Given the description of an element on the screen output the (x, y) to click on. 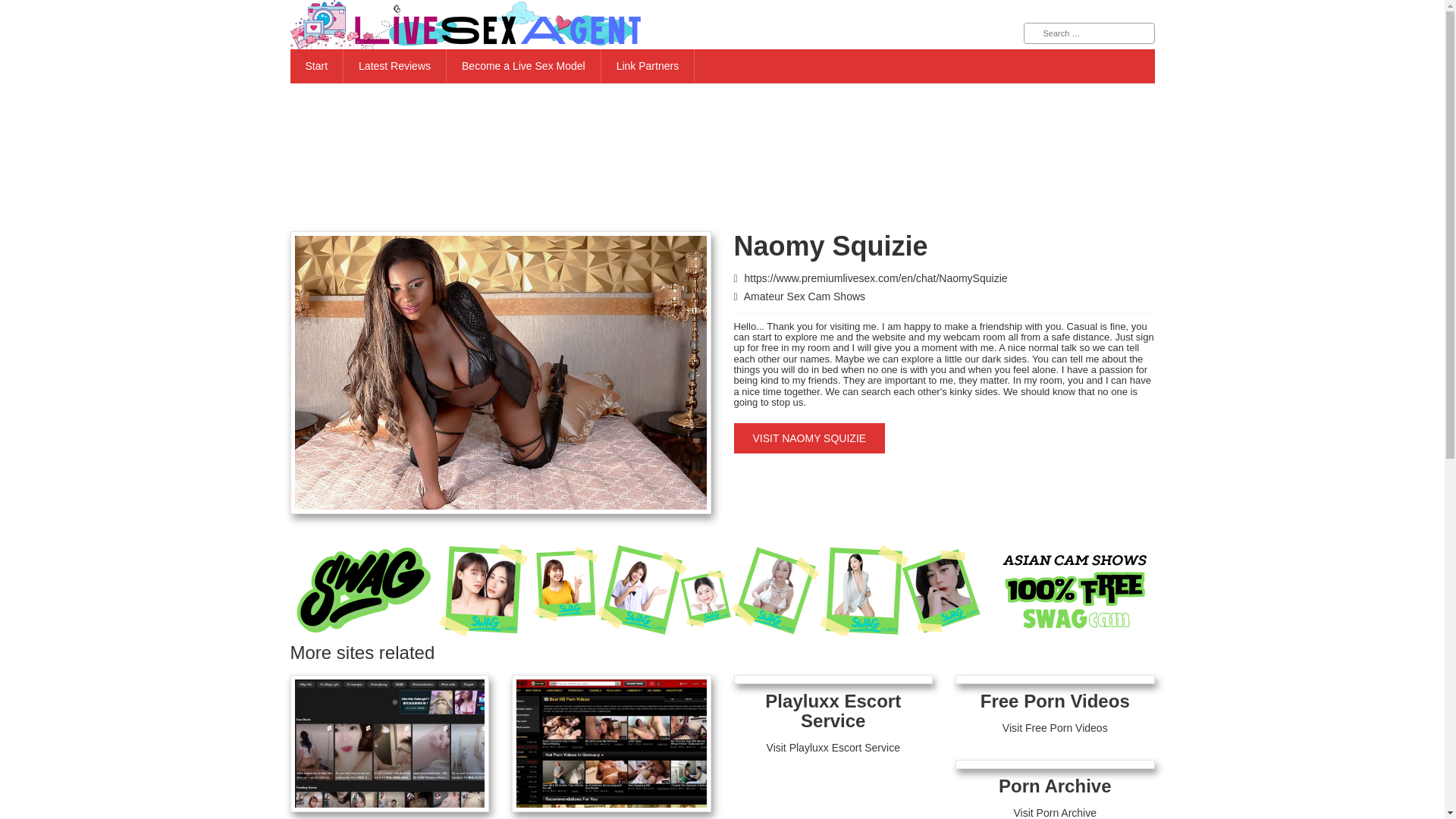
Visit Playluxx Escort Service (833, 747)
Visit Free Porn Videos (1055, 727)
Amateur Sex Cam Shows (804, 296)
VISIT NAOMY SQUIZIE (809, 438)
Link Partners (647, 66)
Porn Archive (1055, 785)
Free Porn Videos (1054, 701)
Become a Live Sex Model (523, 66)
Visit Porn Archive (1054, 812)
Search (22, 9)
Start (316, 66)
Latest Reviews (394, 66)
Playluxx Escort Service (833, 711)
SWAG Asian Webcam Live Sex and X Movies (721, 589)
